Given the description of an element on the screen output the (x, y) to click on. 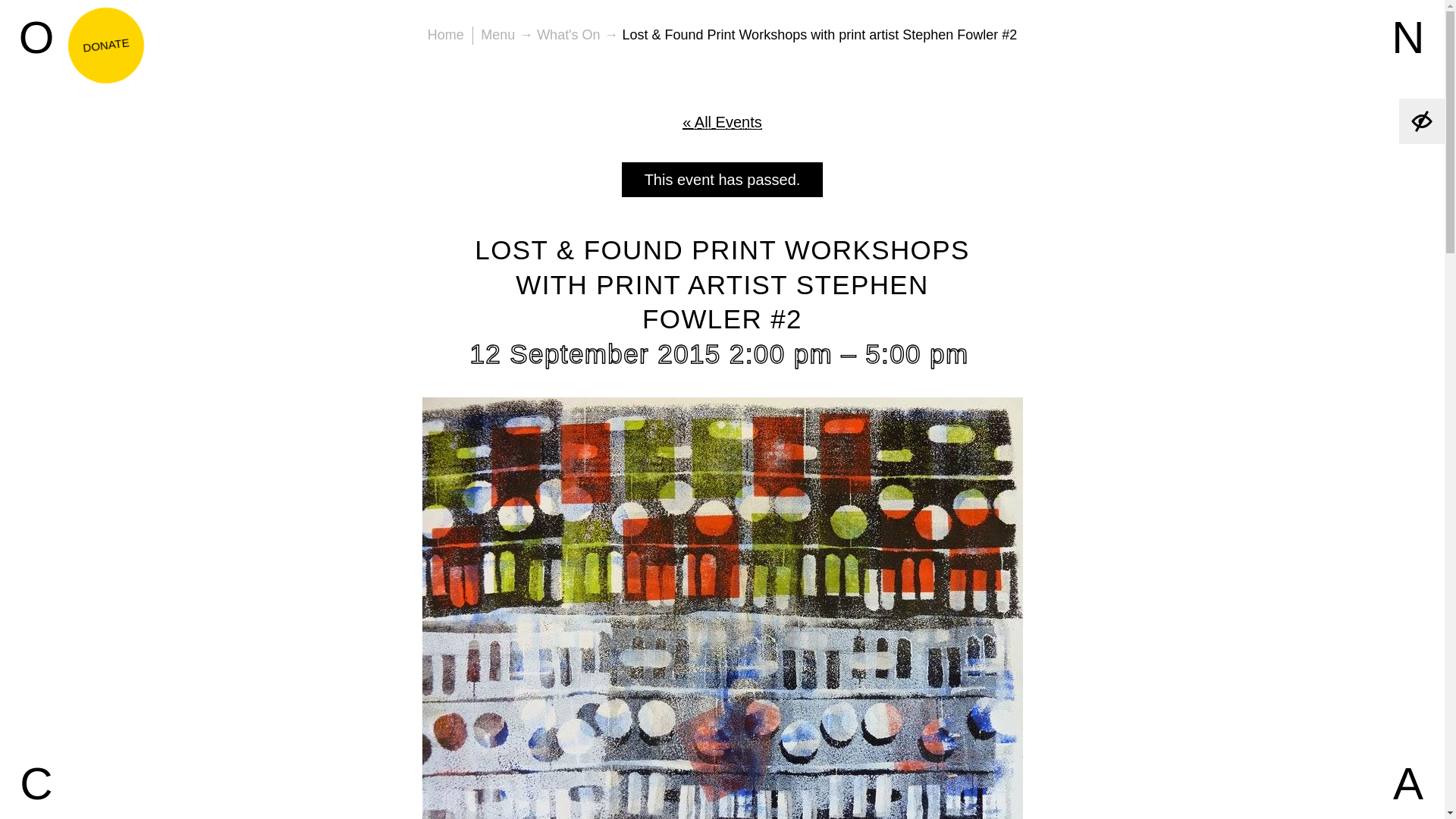
Show menu (497, 34)
What's On (568, 34)
Menu (497, 34)
Turn on accessible version (1421, 120)
O (36, 36)
Home (446, 34)
C (36, 782)
DONATE (101, 40)
